Given the description of an element on the screen output the (x, y) to click on. 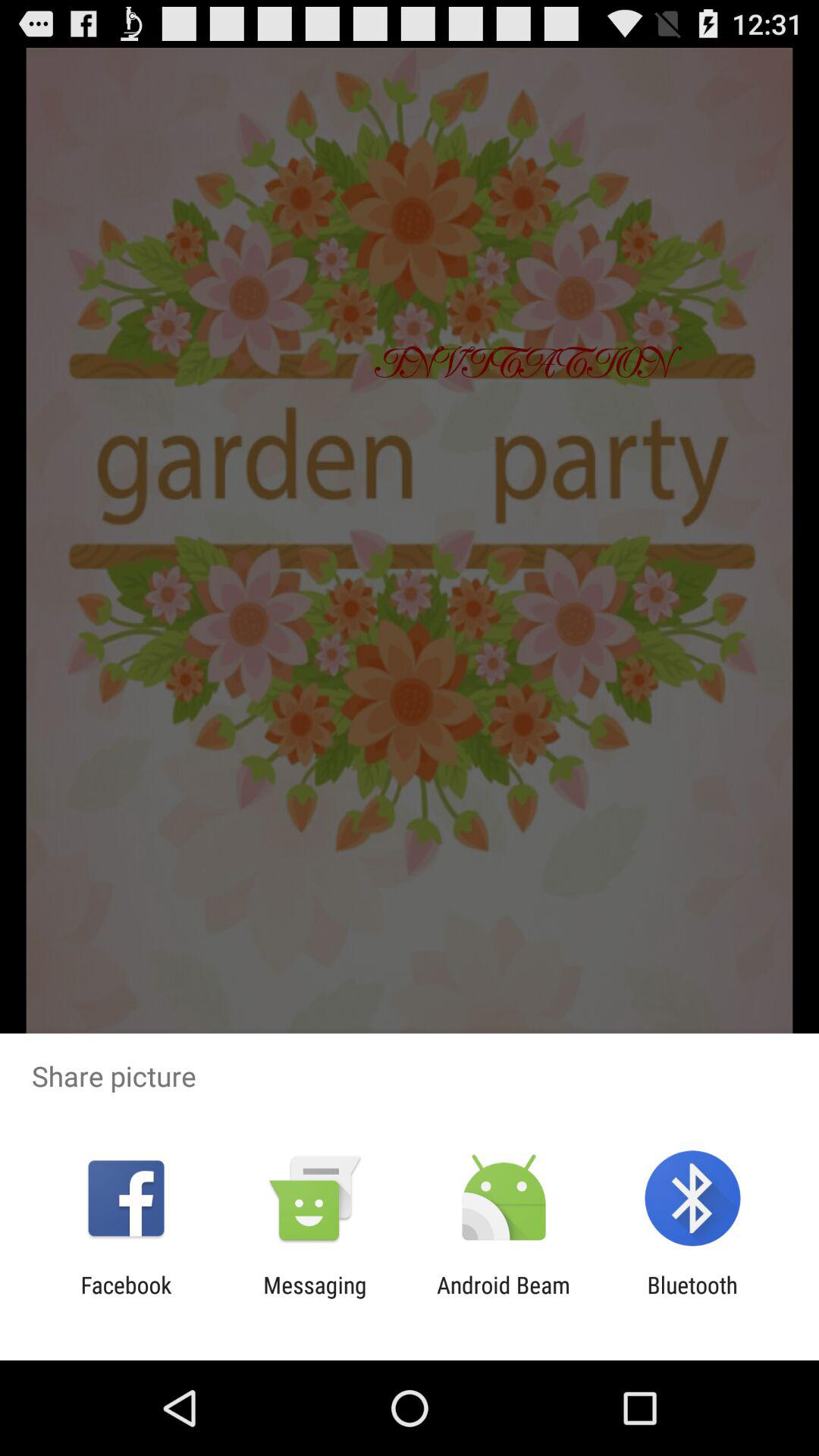
click the app next to the messaging app (125, 1298)
